Given the description of an element on the screen output the (x, y) to click on. 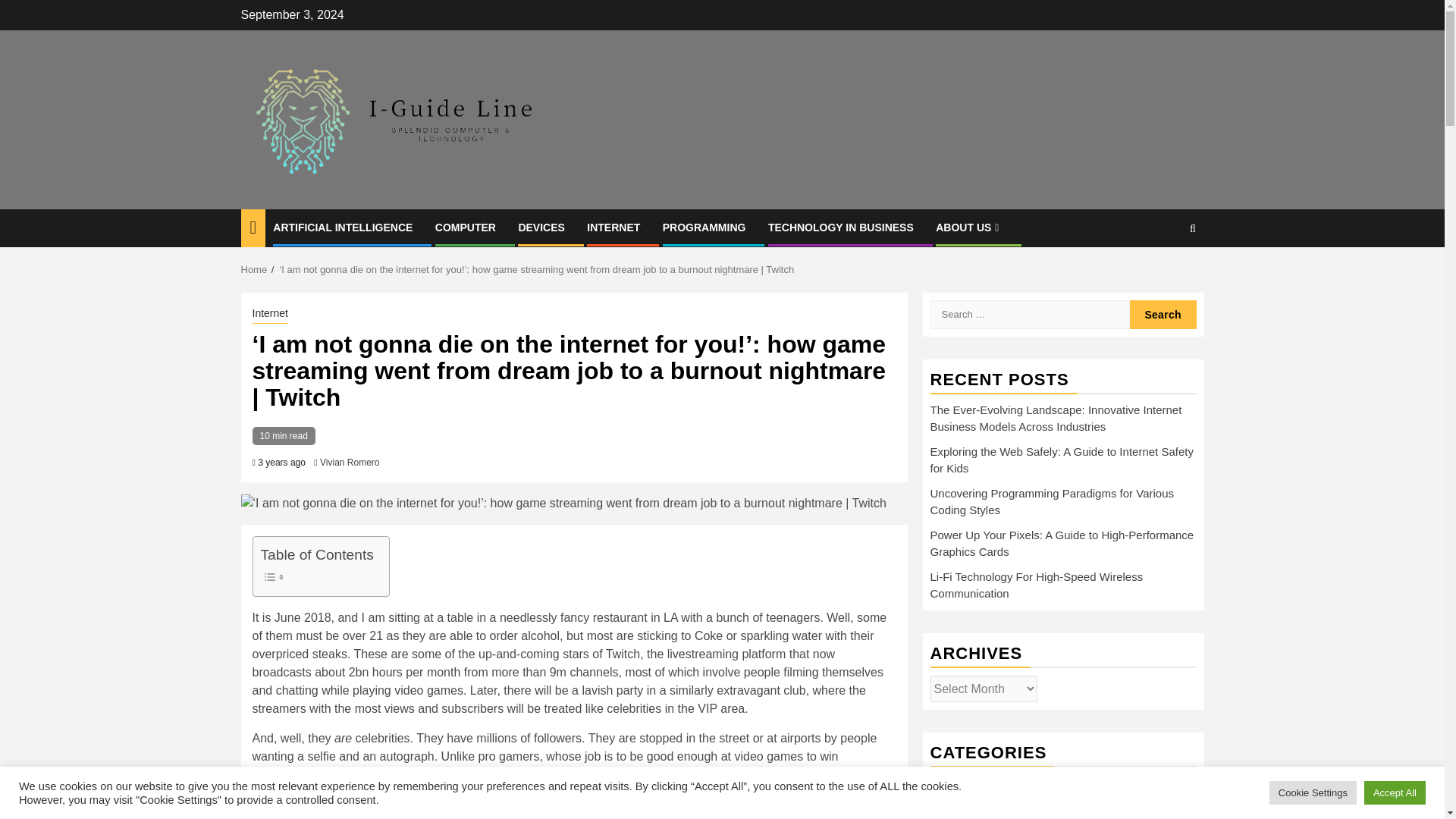
ABOUT US (969, 227)
Internet (268, 314)
PROGRAMMING (703, 227)
Vivian Romero (349, 462)
COMPUTER (465, 227)
ARTIFICIAL INTELLIGENCE (342, 227)
TECHNOLOGY IN BUSINESS (841, 227)
Search (1162, 314)
Home (254, 269)
INTERNET (613, 227)
